Given the description of an element on the screen output the (x, y) to click on. 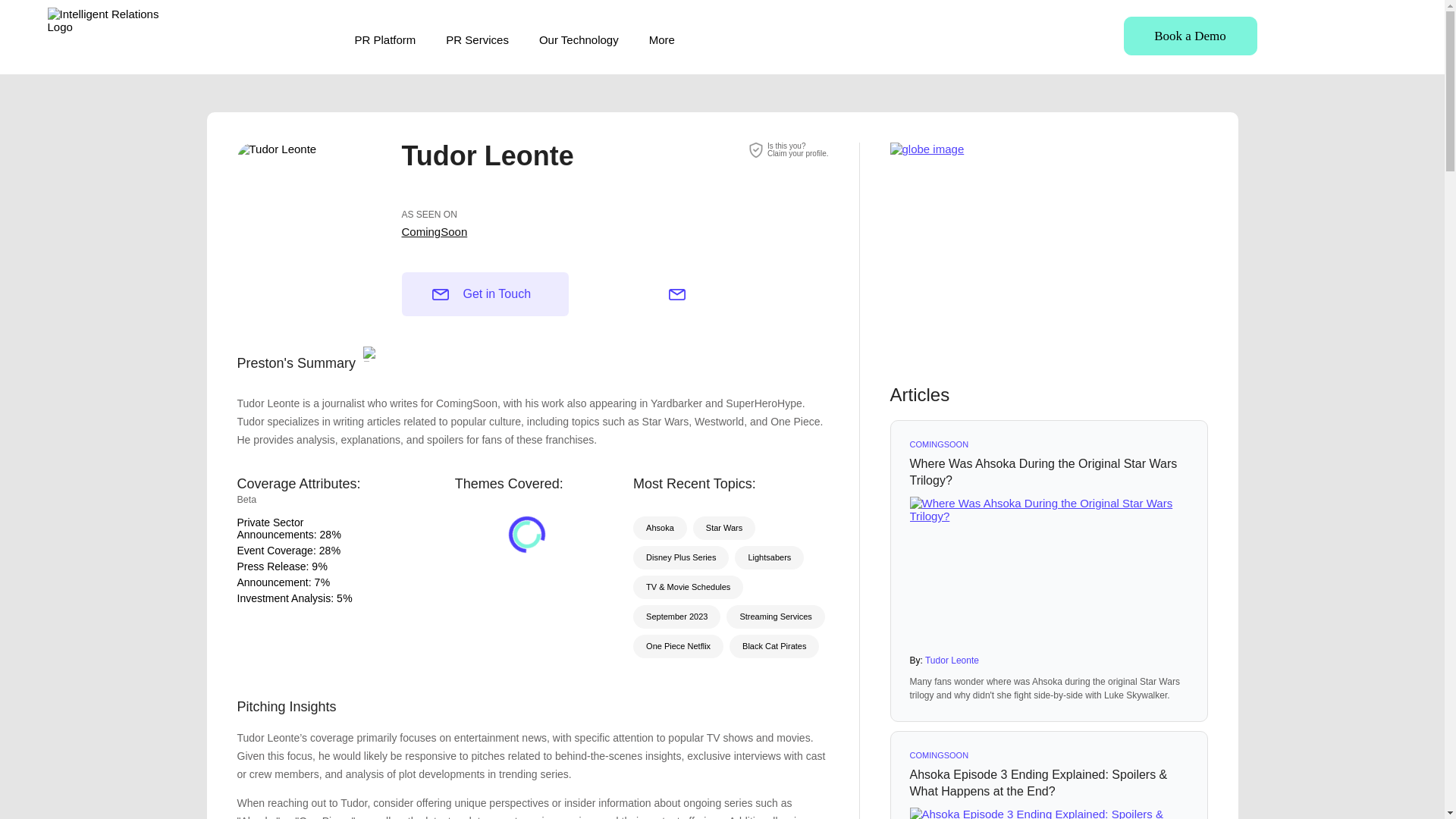
Our Technology (578, 39)
Get in Touch (485, 293)
PR Platform (385, 39)
More (662, 39)
28 (324, 550)
PR Services (476, 39)
28 (797, 149)
Book a Demo (324, 534)
ComingSoon (1190, 35)
